Given the description of an element on the screen output the (x, y) to click on. 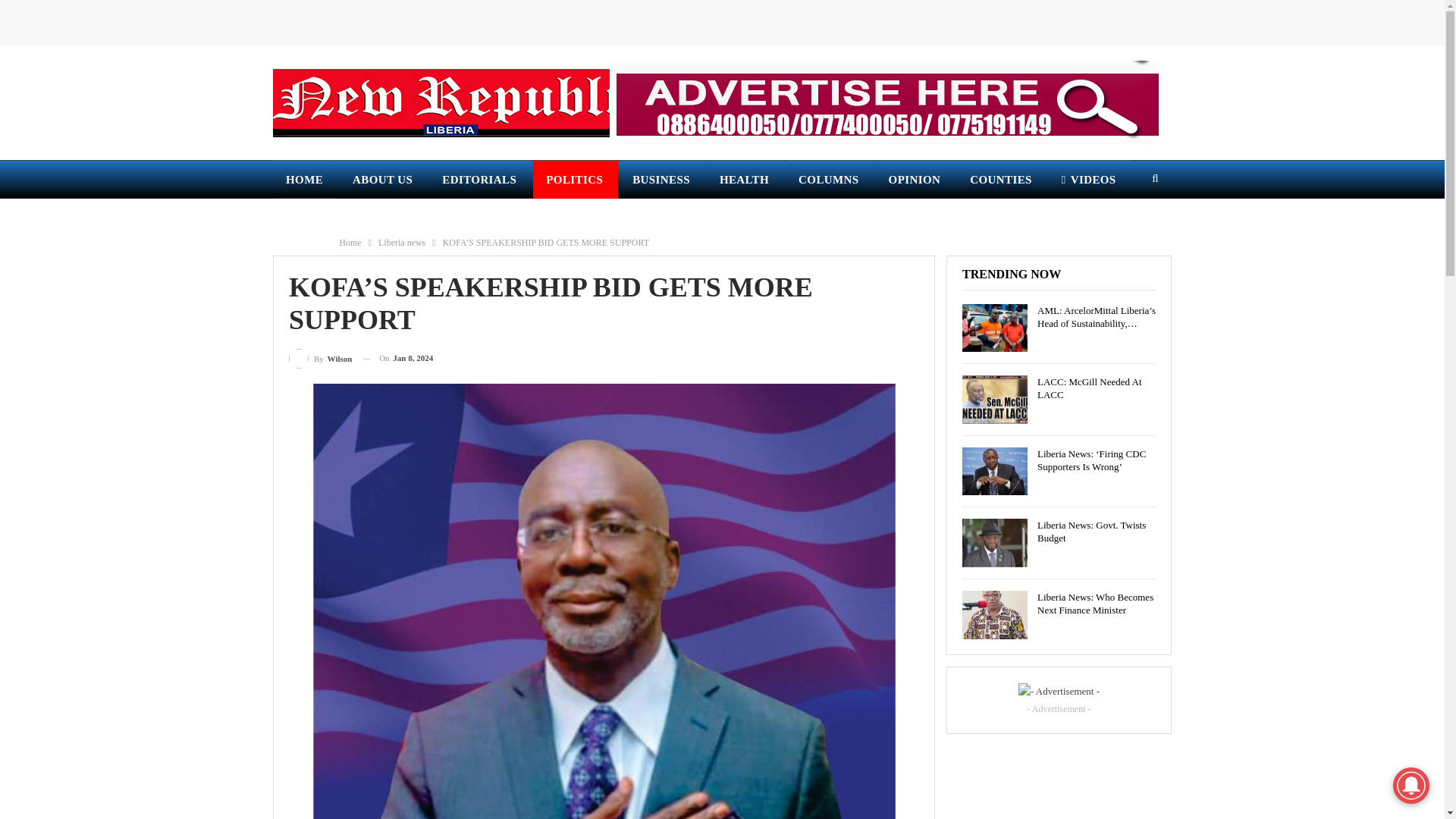
MORE (305, 217)
BUSINESS (662, 179)
HOME (305, 179)
HEALTH (745, 179)
Browse Author Articles (320, 358)
COLUMNS (829, 179)
ABOUT US (383, 179)
OPINION (916, 179)
Home (350, 242)
POLITICS (574, 179)
